Given the description of an element on the screen output the (x, y) to click on. 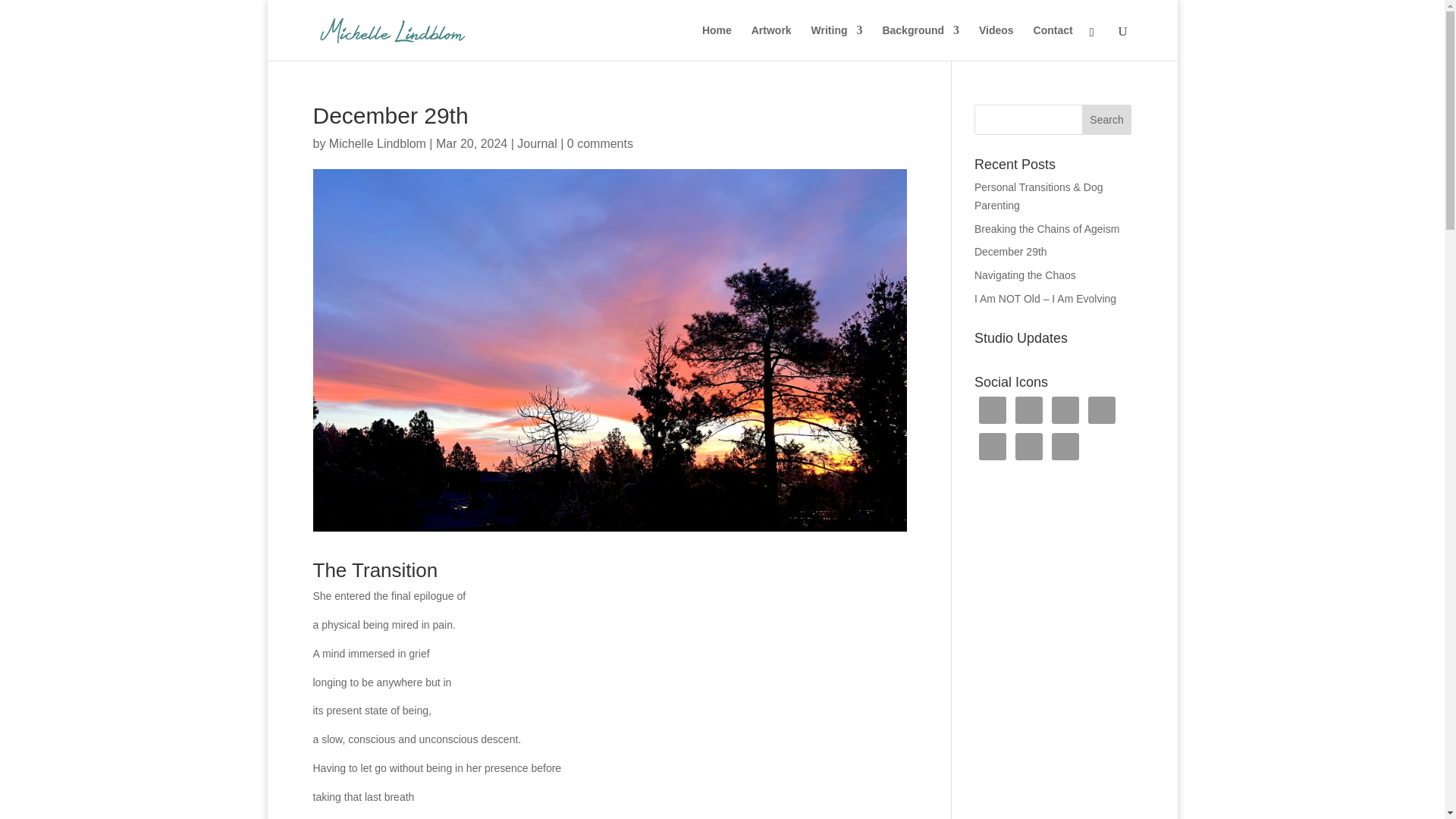
Journal (536, 143)
December 29th (1010, 251)
Search (1106, 119)
Posts by Michelle Lindblom (377, 143)
Contact (1053, 42)
Search (1106, 119)
Artwork (771, 42)
Michelle Lindblom (377, 143)
Background (920, 42)
Breaking the Chains of Ageism (1046, 228)
0 comments (600, 143)
Writing (836, 42)
Navigating the Chaos (1024, 275)
Videos (995, 42)
